Given the description of an element on the screen output the (x, y) to click on. 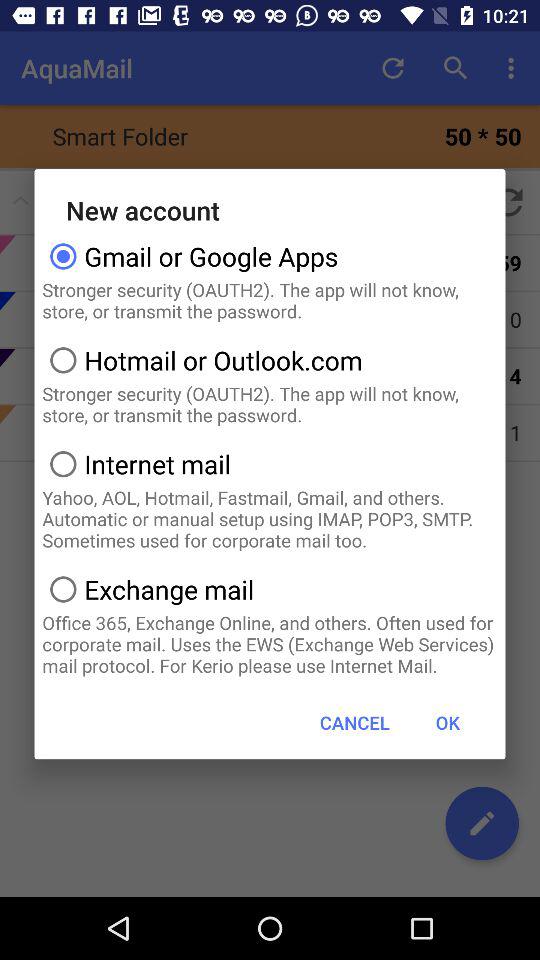
open button next to the ok icon (354, 722)
